Given the description of an element on the screen output the (x, y) to click on. 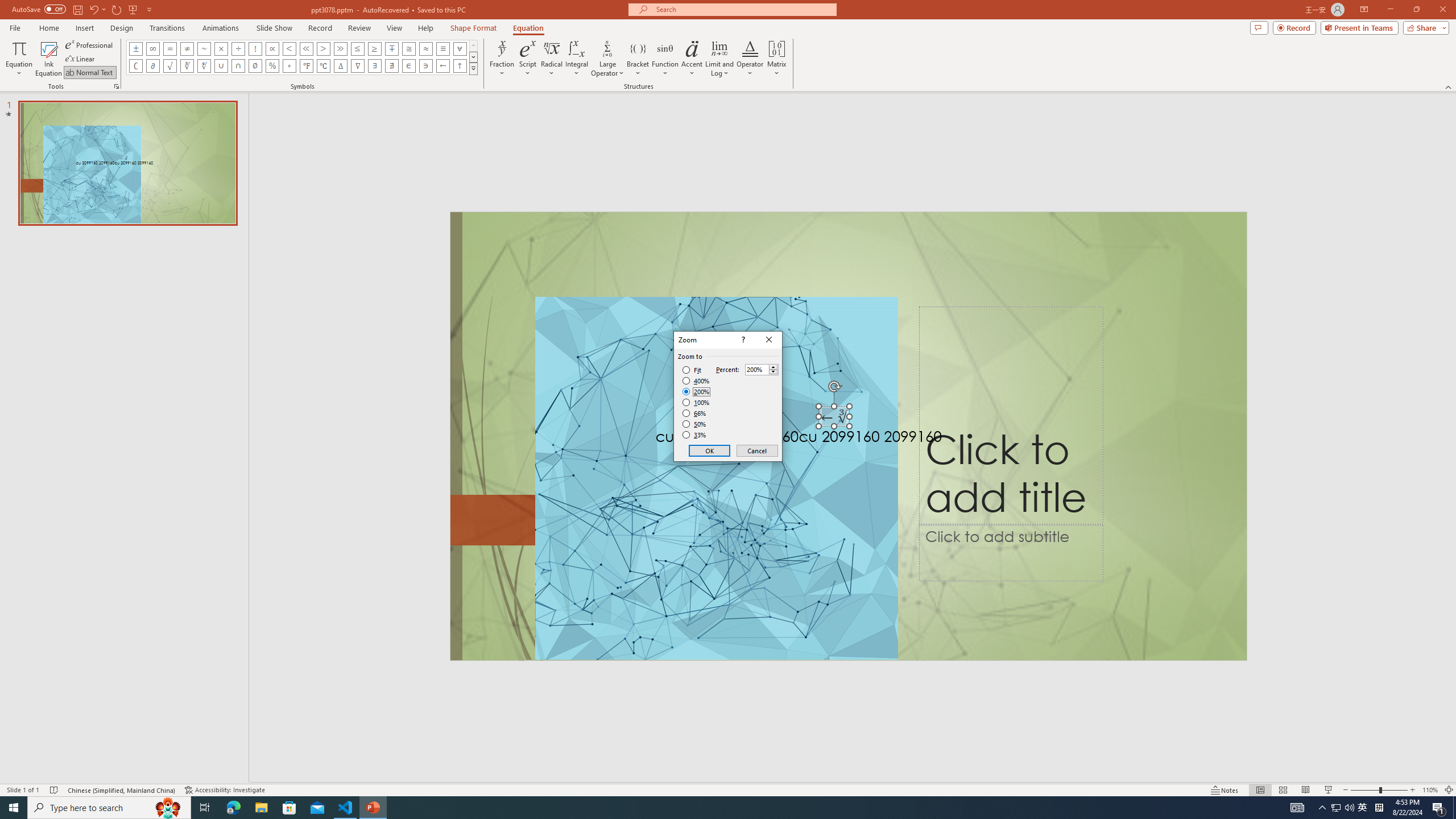
Equation Symbol Fourth Root (203, 65)
Large Operator (607, 58)
Equation Symbol Proportional To (272, 48)
Equation Symbol Greater Than or Equal To (374, 48)
Equation Symbol Partial Differential (152, 65)
Equation Symbol Approximately Equal To (408, 48)
Function (664, 58)
